Given the description of an element on the screen output the (x, y) to click on. 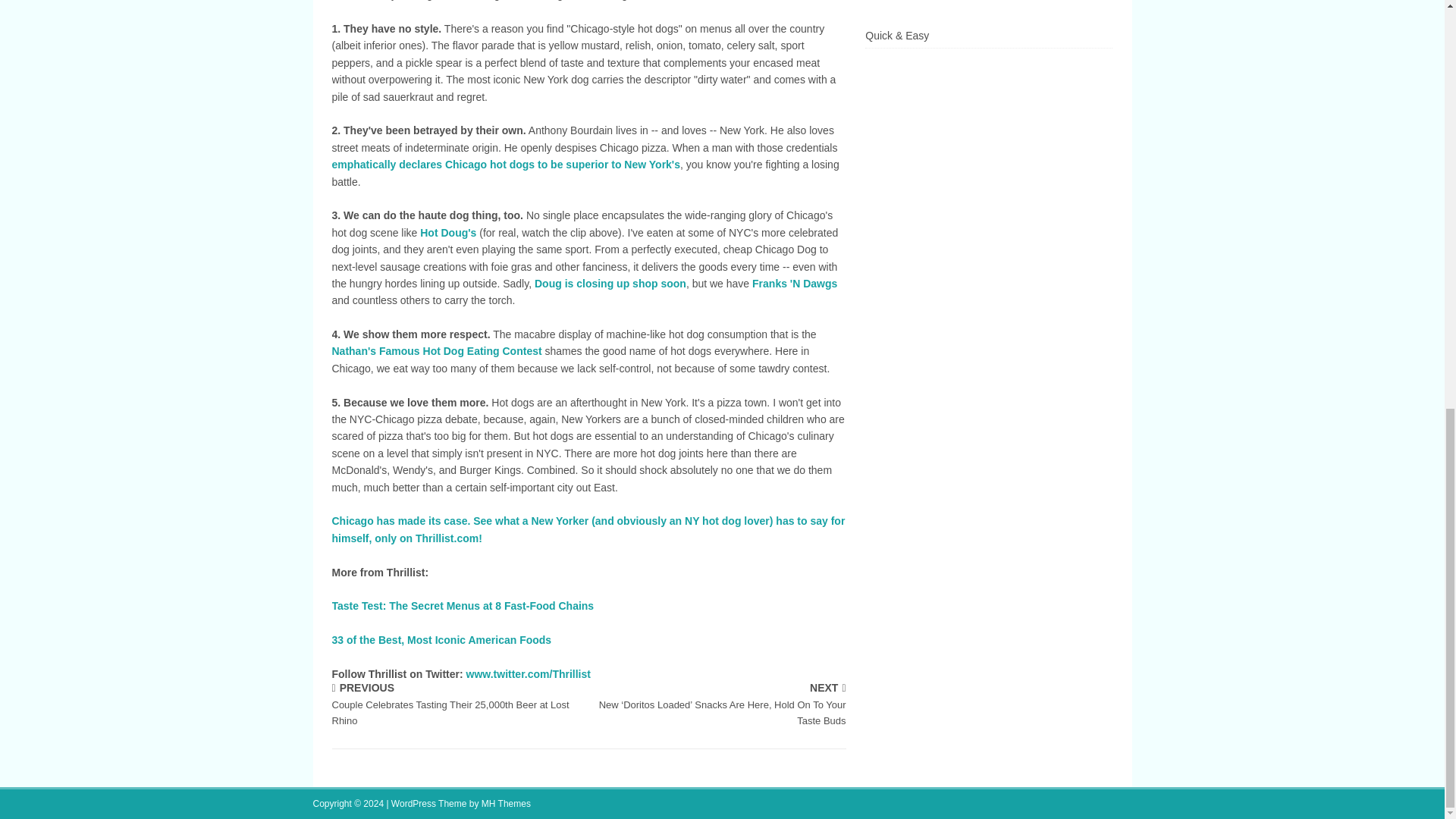
33 of the Best, Most Iconic American Foods (441, 639)
Doug is closing up shop soon (609, 283)
Franks 'N Dawgs (794, 283)
Taste Test: The Secret Menus at 8 Fast-Food Chains (462, 605)
Hot Doug's (448, 232)
Nathan's Famous Hot Dog Eating Contest (436, 350)
